Given the description of an element on the screen output the (x, y) to click on. 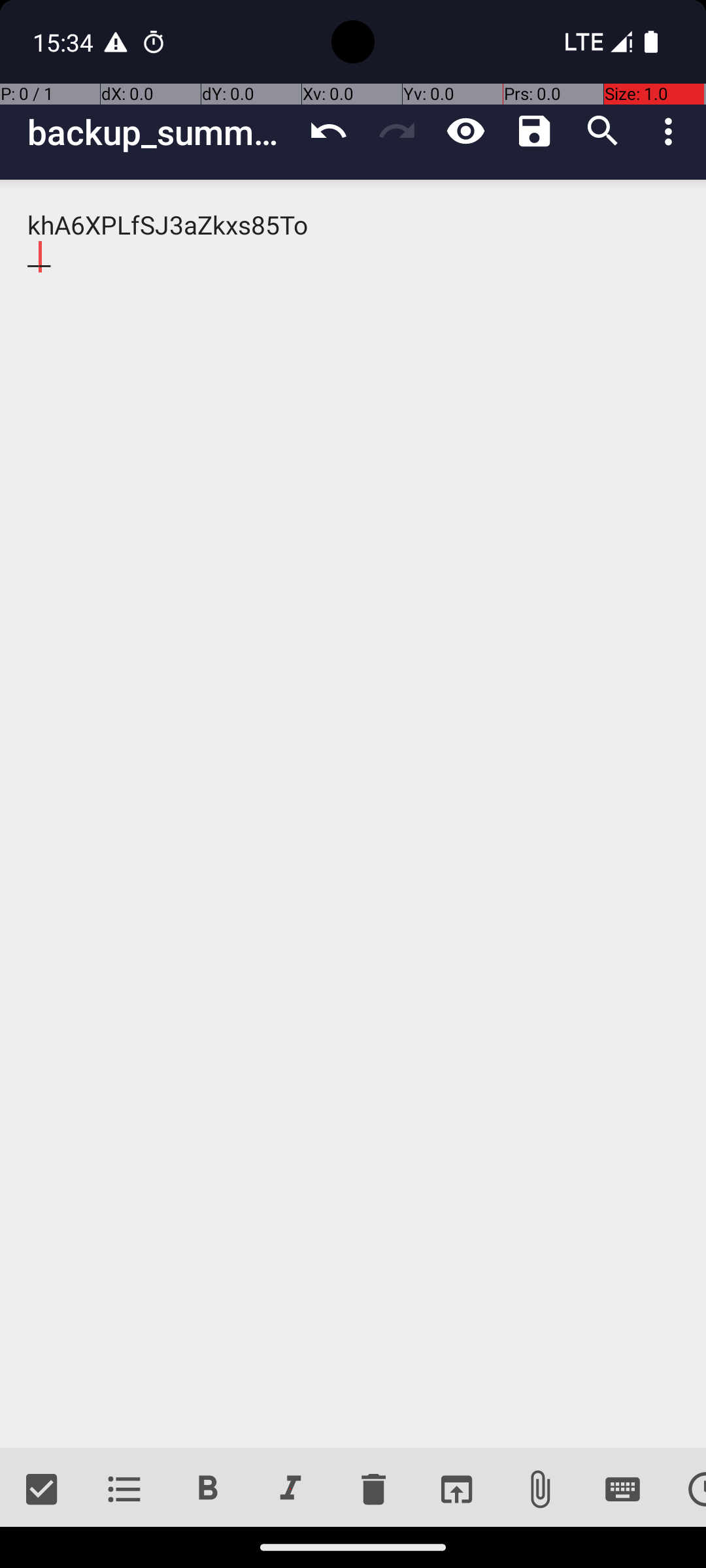
backup_summer_vacation_plans Element type: android.widget.TextView (160, 131)
khA6XPLfSJ3aZkxs85To
__ Element type: android.widget.EditText (353, 813)
